Given the description of an element on the screen output the (x, y) to click on. 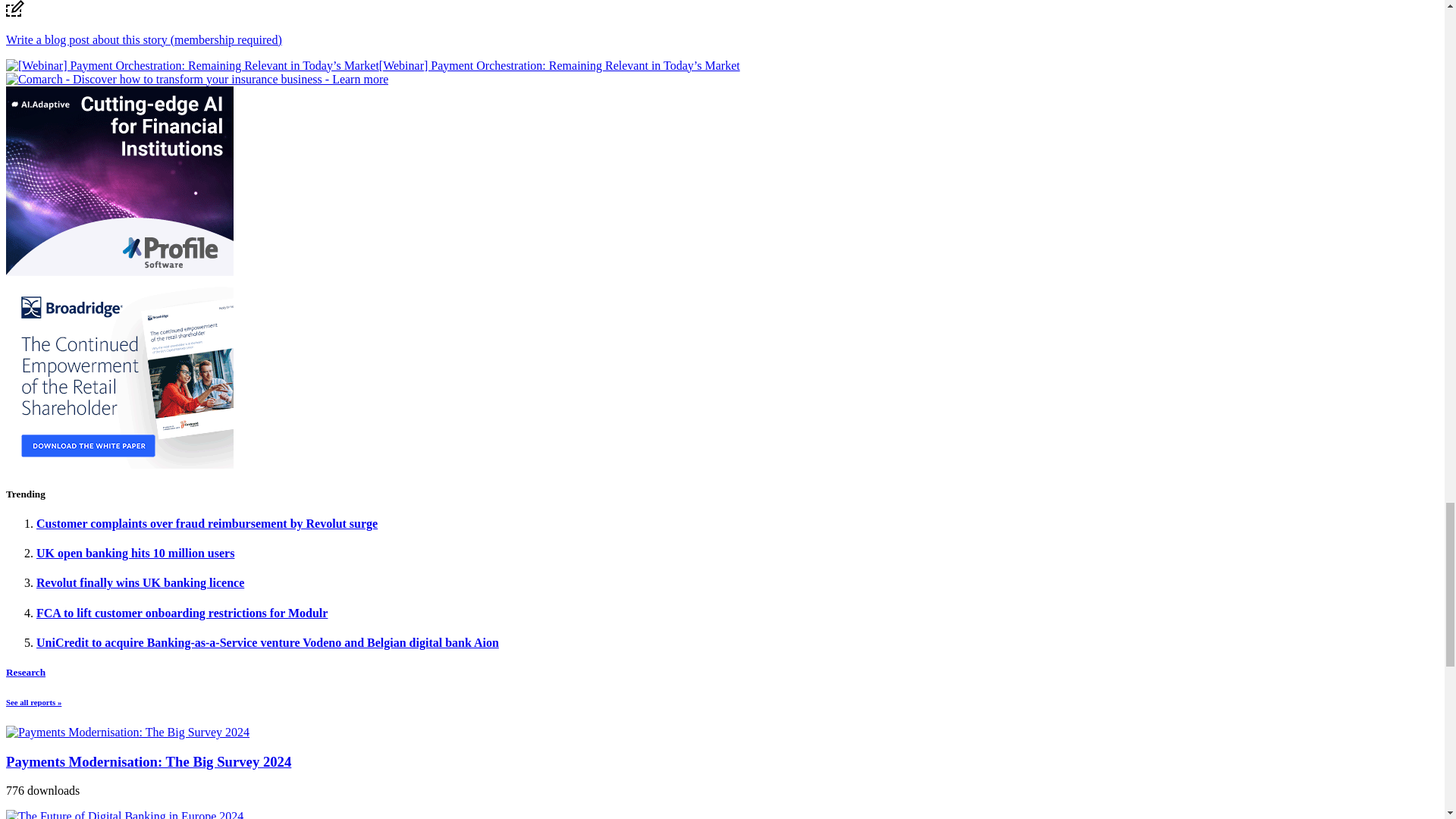
Payments Modernisation: The Big Survey 2024 (126, 732)
The Future of Digital Banking in Europe 2024 (124, 814)
Payments Modernisation: The Big Survey 2024 (126, 731)
The Future of Digital Banking in Europe 2024 (124, 814)
